Given the description of an element on the screen output the (x, y) to click on. 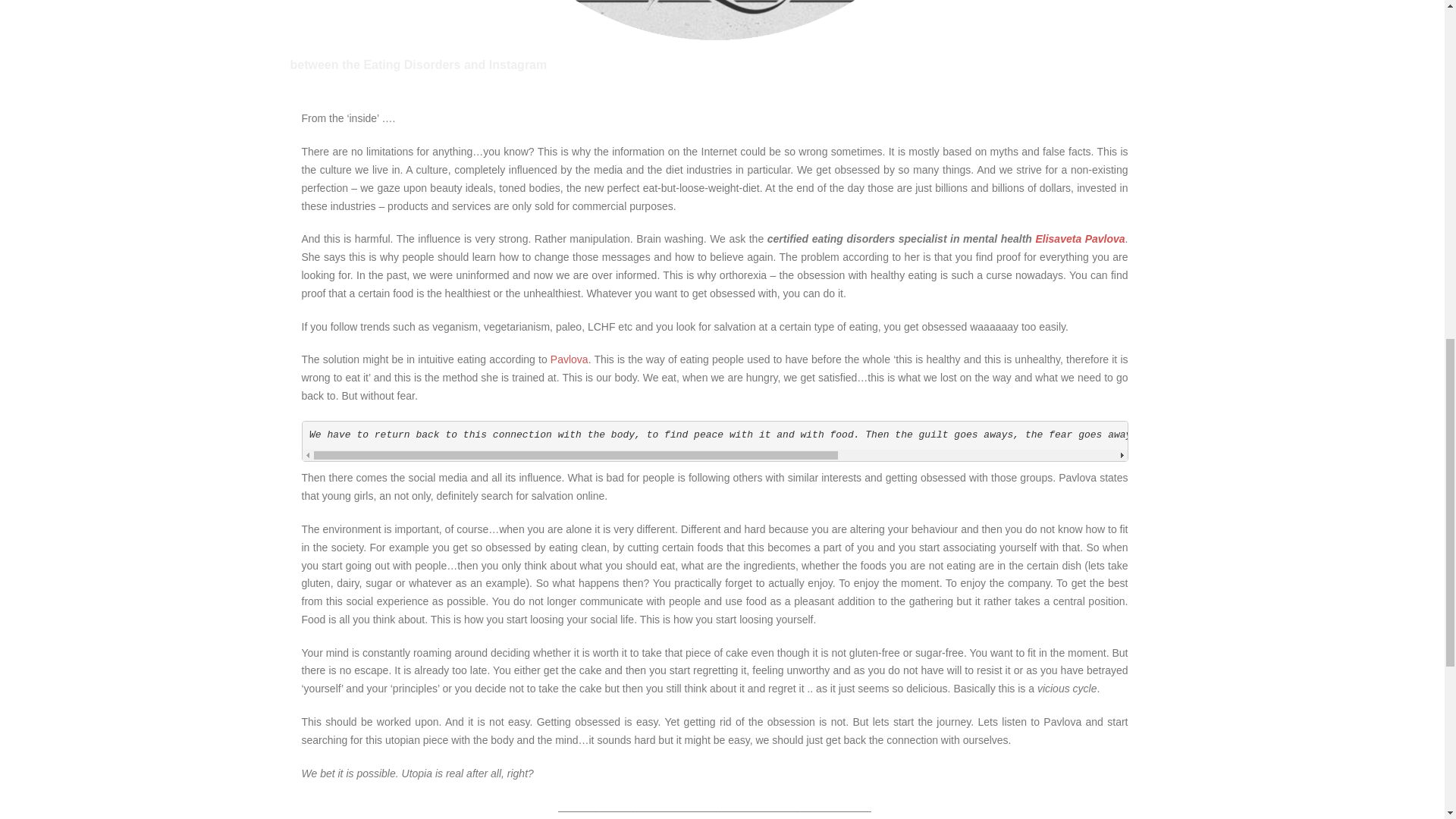
Elisaveta Pavlova (1079, 238)
Pavlova (569, 358)
